Given the description of an element on the screen output the (x, y) to click on. 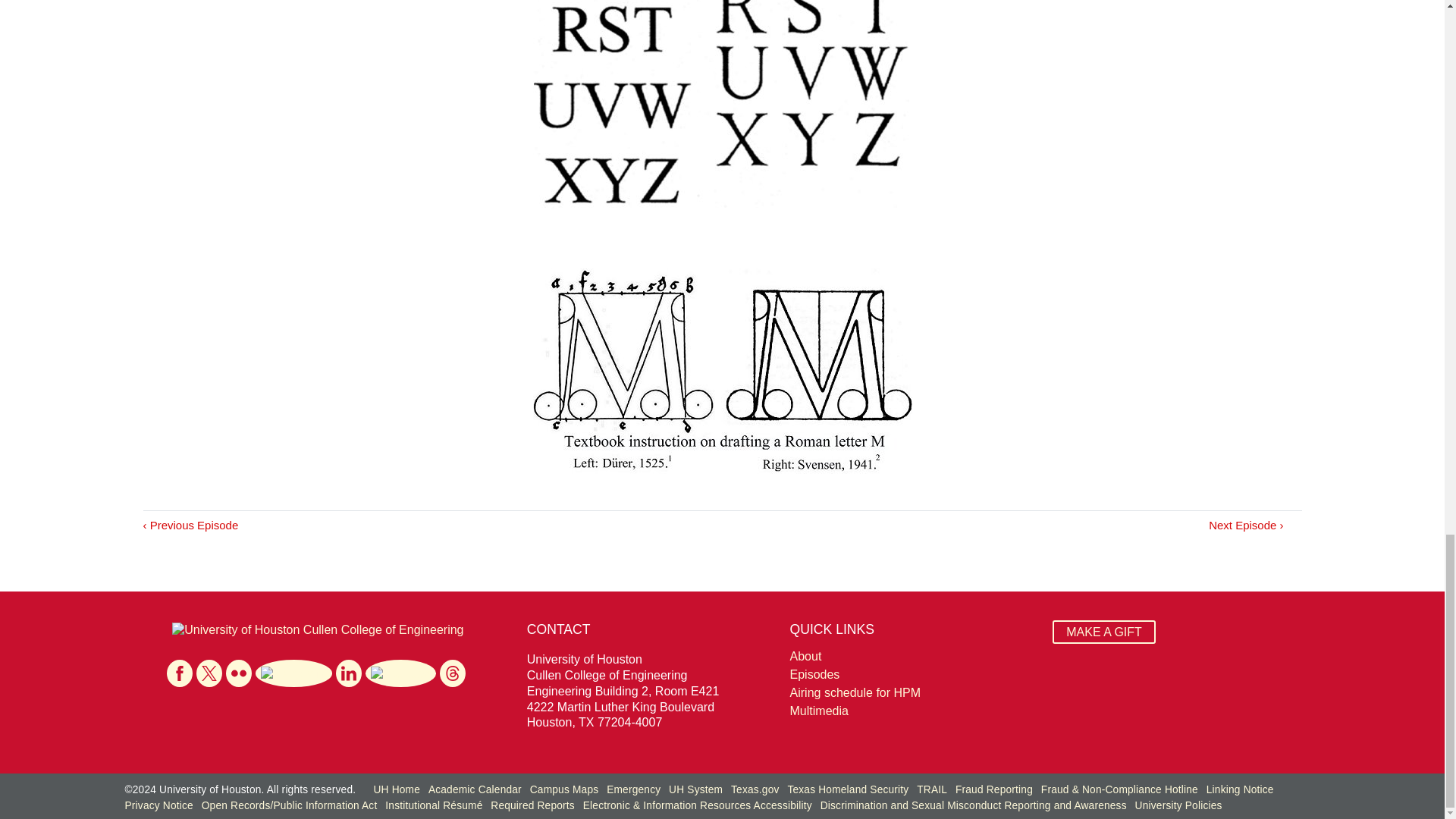
Episodes (913, 674)
Campus Maps (563, 789)
UH Home (396, 789)
Academic Calendar (474, 789)
Airing schedule for HPM (913, 692)
Multimedia (913, 710)
About (913, 656)
